Given the description of an element on the screen output the (x, y) to click on. 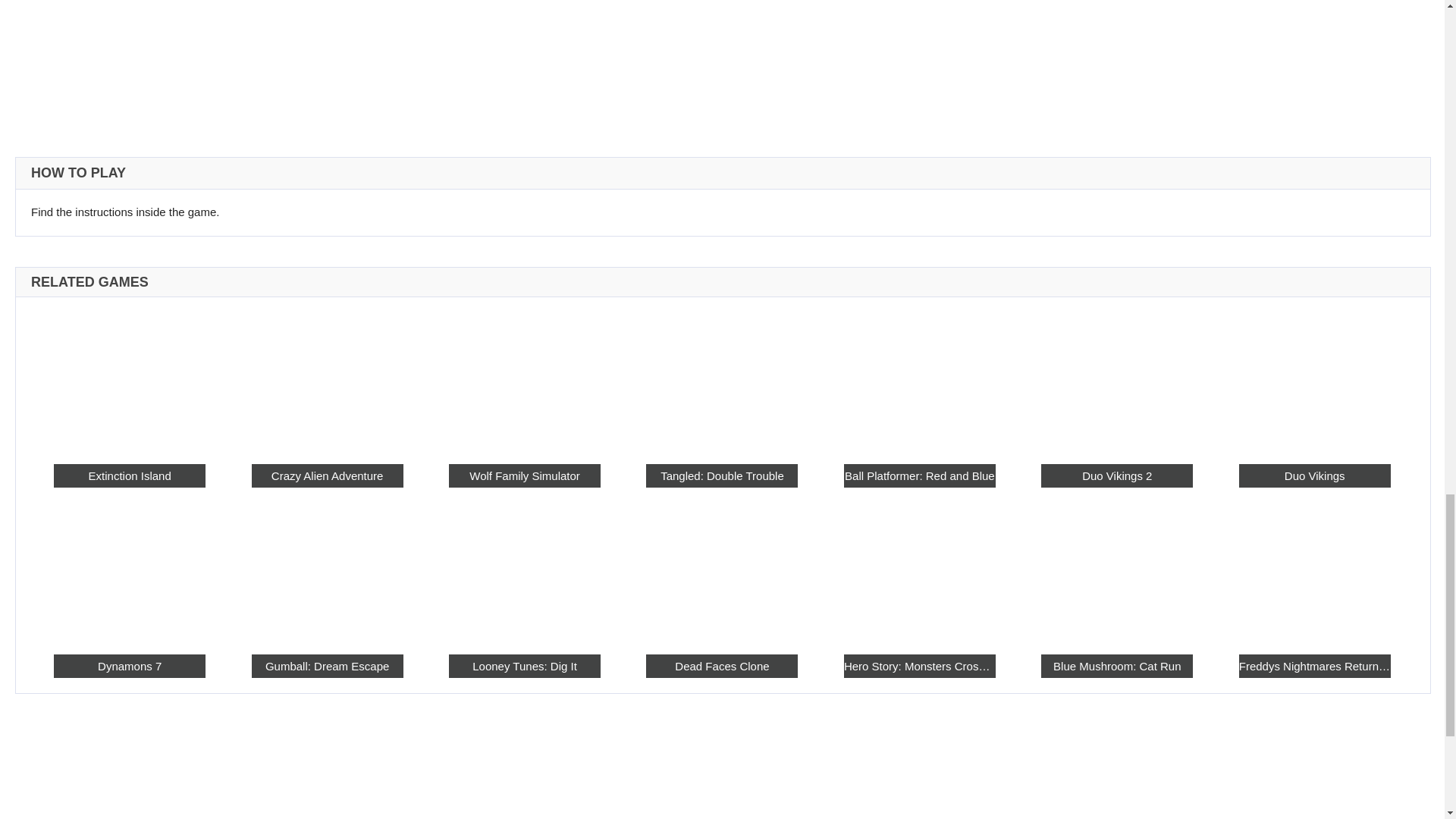
Tangled: Double Trouble (742, 437)
Duo Vikings 2 (963, 437)
Wolf Family Simulator (633, 437)
Ball Platformer: Red and Blue (853, 437)
Duo Vikings (1074, 437)
Ball Platformer: Red and Blue (832, 358)
Extinction Island (391, 358)
Wolf Family Simulator (612, 358)
Crazy Alien Adventure (522, 437)
Tangled: Double Trouble (721, 358)
Duo Vikings 2 (943, 358)
Duo Vikings (1053, 358)
Extinction Island (411, 437)
Crazy Alien Adventure (501, 358)
